Given the description of an element on the screen output the (x, y) to click on. 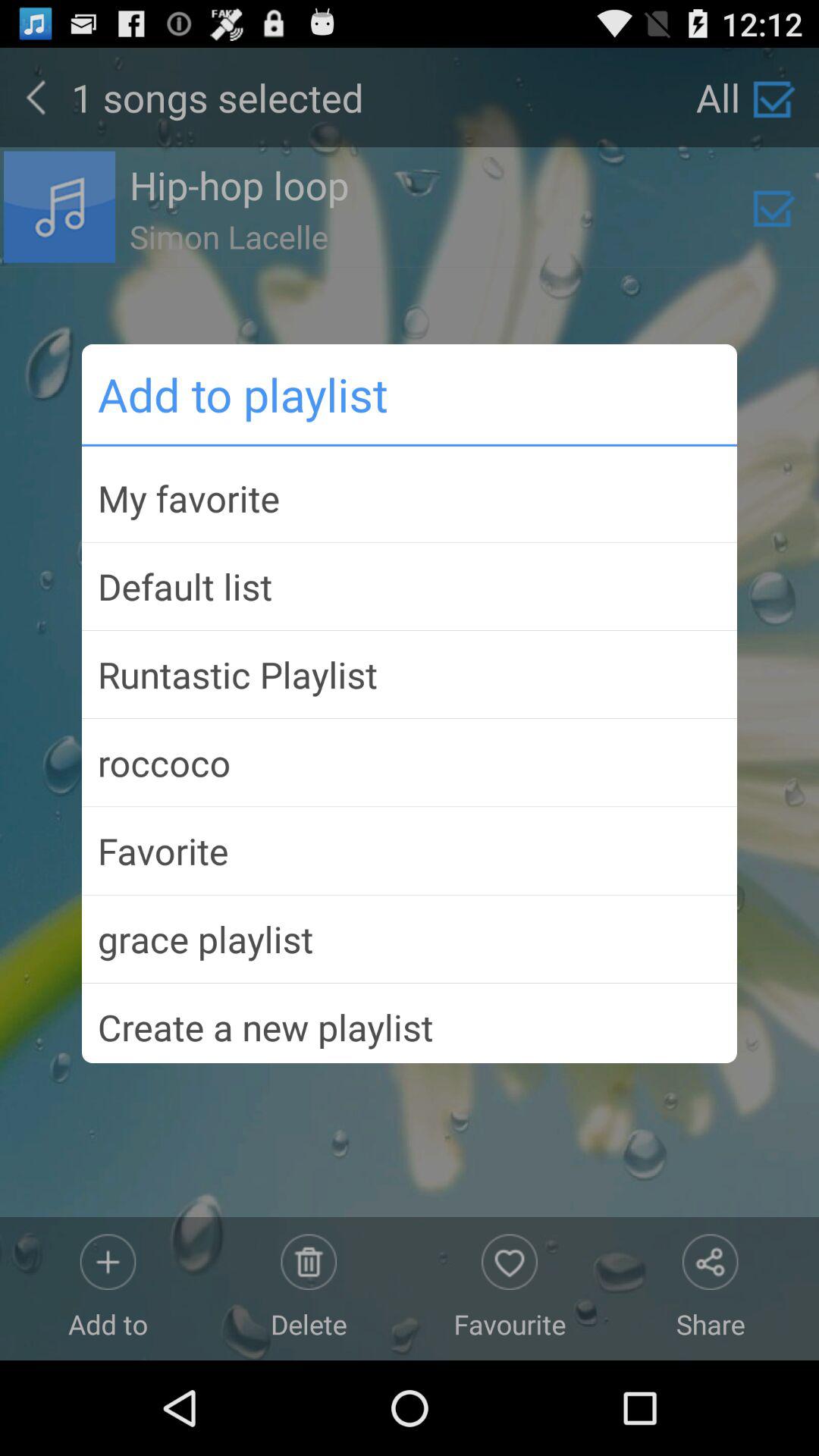
scroll to the runtastic playlist item (409, 674)
